Given the description of an element on the screen output the (x, y) to click on. 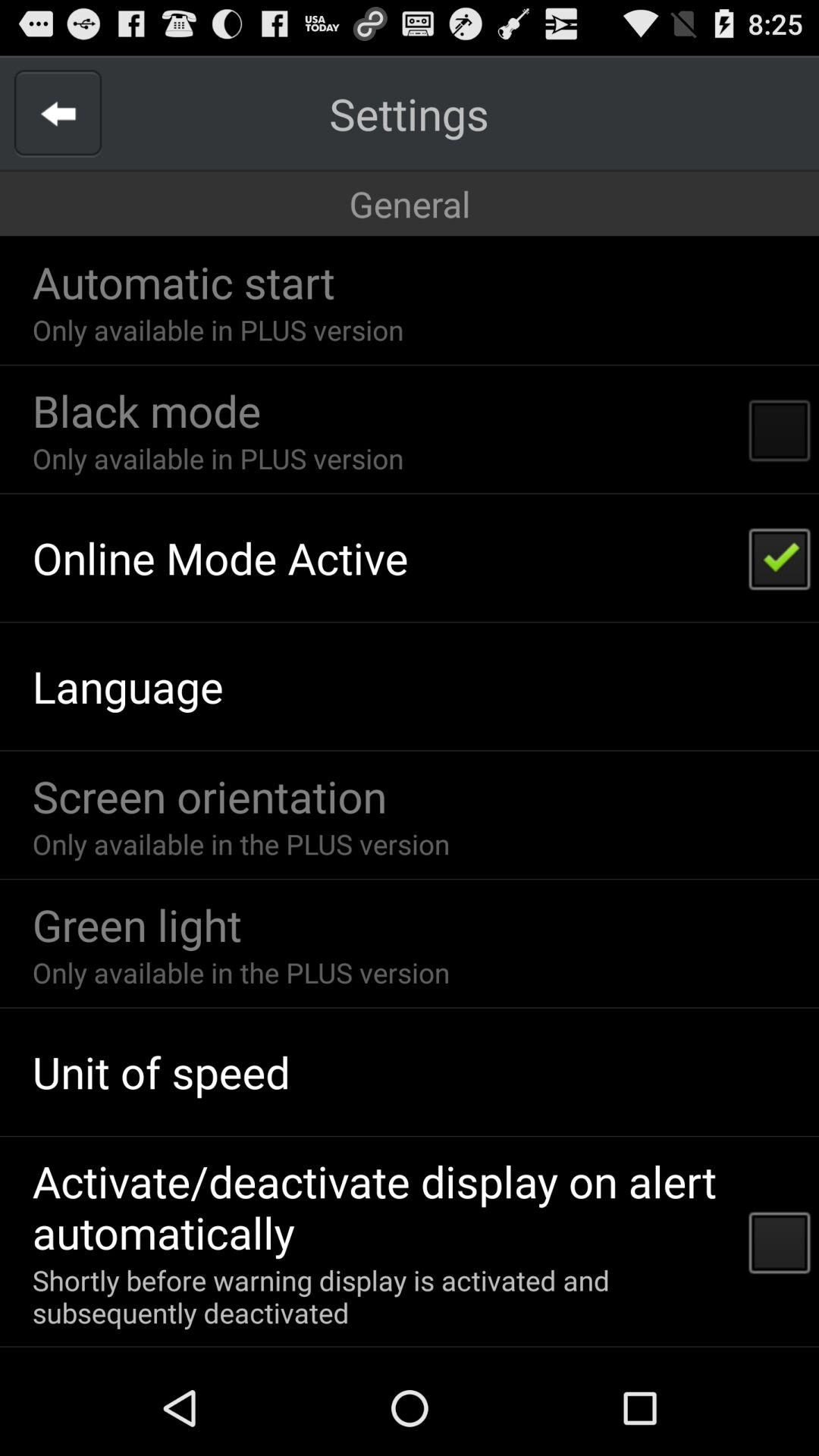
go back (57, 113)
